Given the description of an element on the screen output the (x, y) to click on. 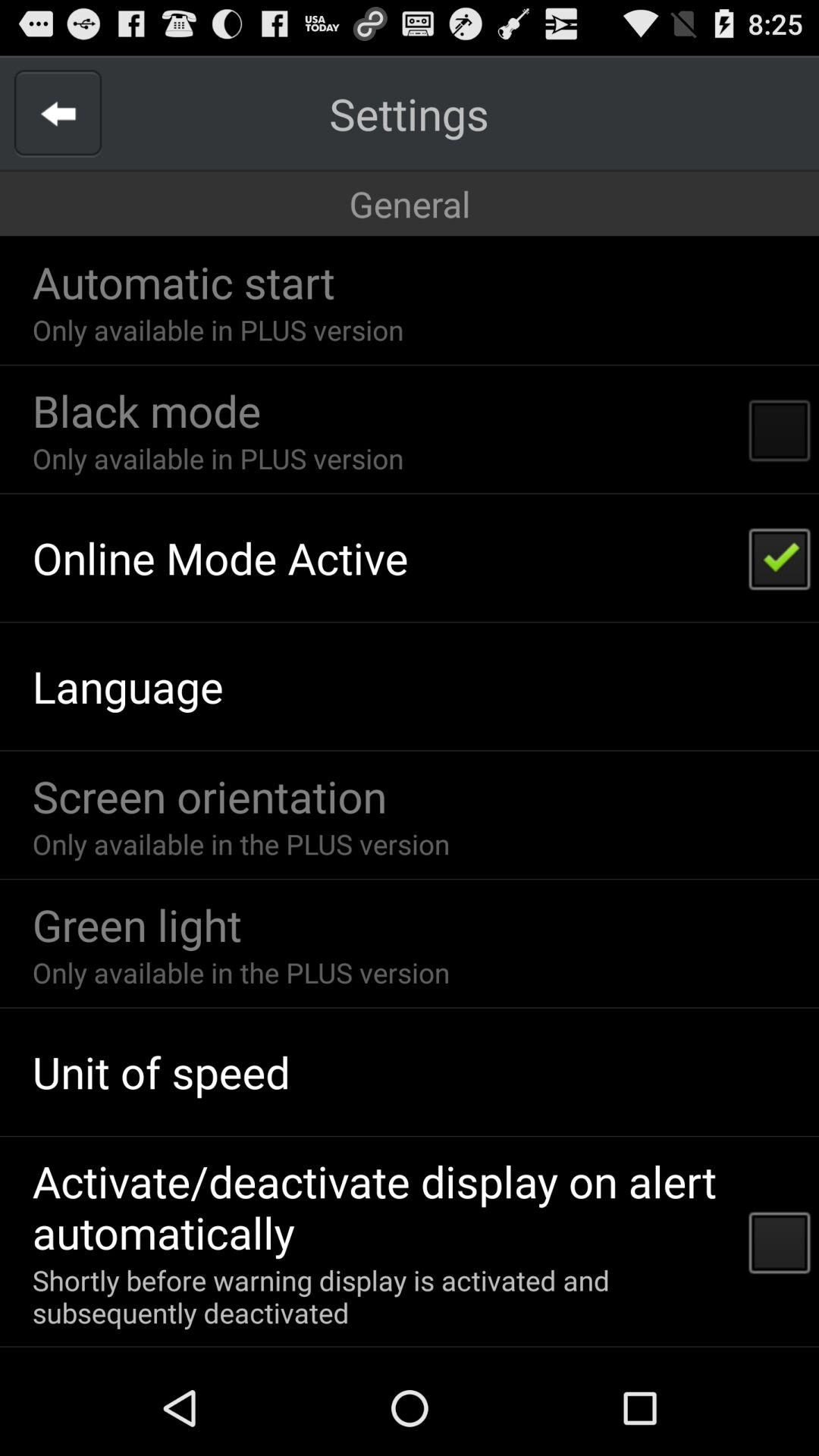
go back (57, 113)
